Given the description of an element on the screen output the (x, y) to click on. 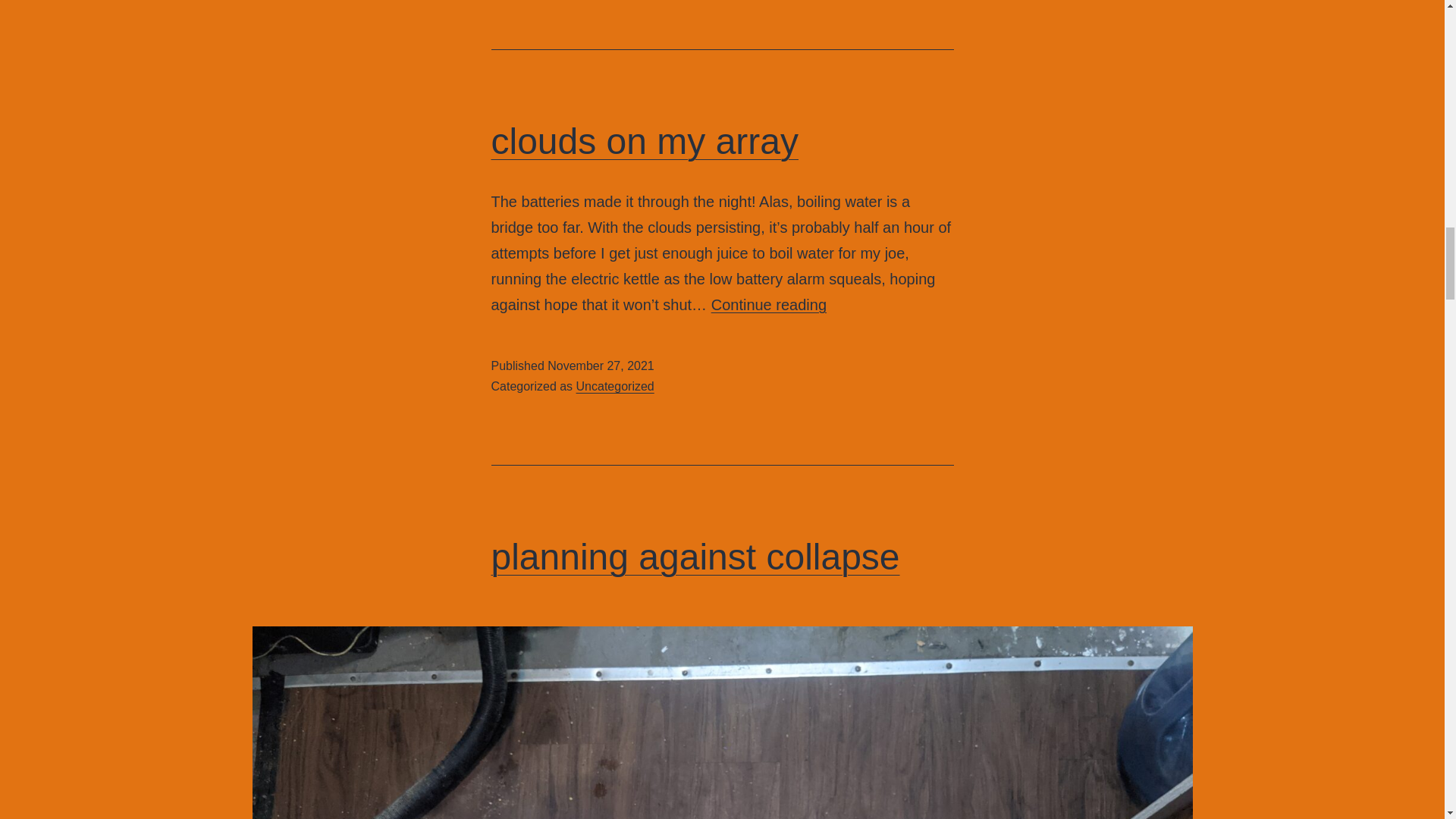
planning against collapse (695, 557)
Uncategorized (614, 386)
clouds on my array (769, 304)
